Given the description of an element on the screen output the (x, y) to click on. 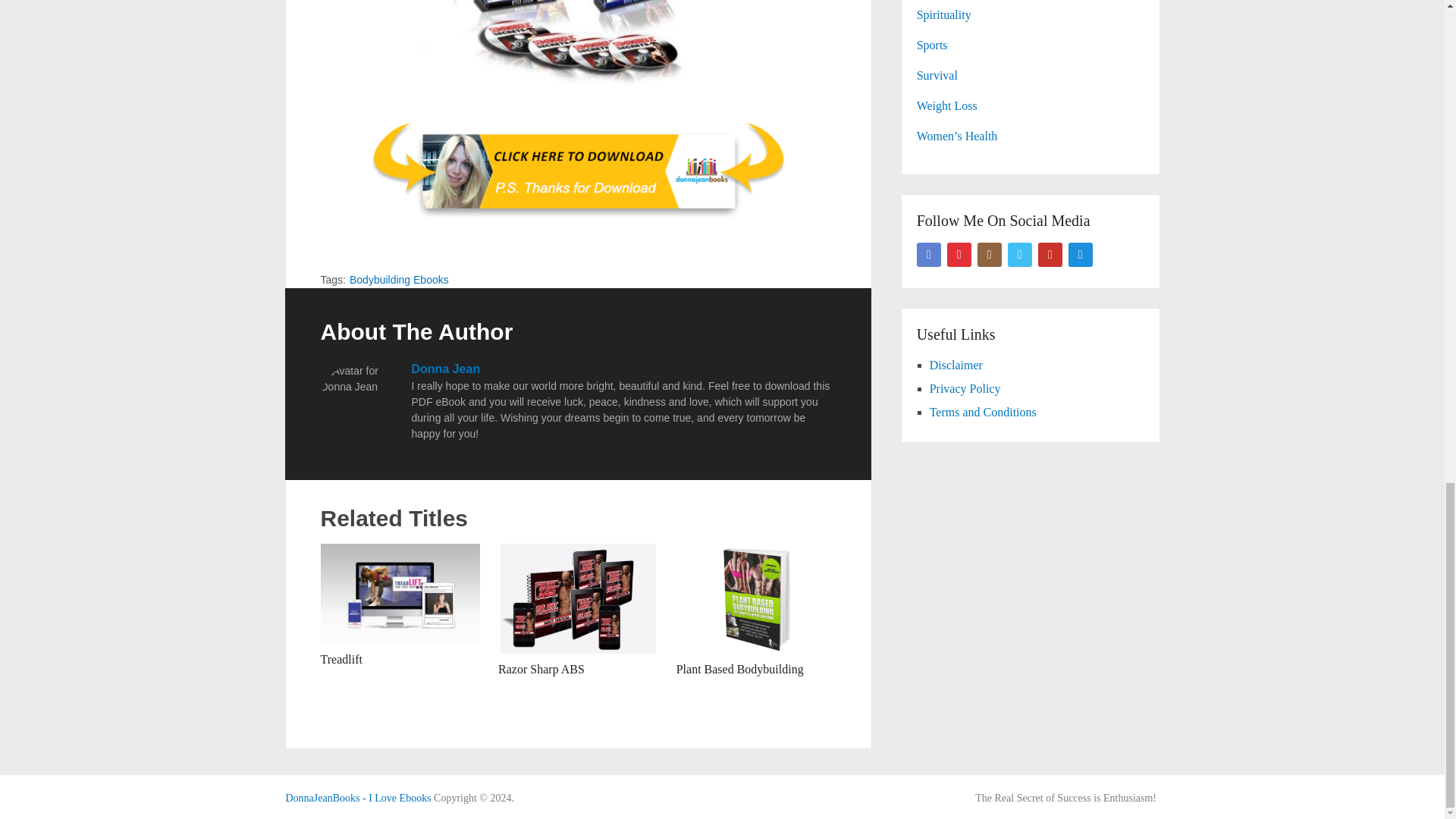
Gravatar for Donna Jean (358, 400)
Razor Sharp ABS (541, 668)
Razor Sharp ABS (541, 668)
Treadlift (400, 593)
Donna Jean (445, 368)
Plant Based Bodybuilding (740, 668)
Plant Based Bodybuilding (740, 668)
Bodybuilding Ebooks (398, 279)
Treadlift (340, 658)
Plant Based Bodybuilding (756, 598)
Razor Sharp ABS (577, 598)
Treadlift (340, 658)
